Given the description of an element on the screen output the (x, y) to click on. 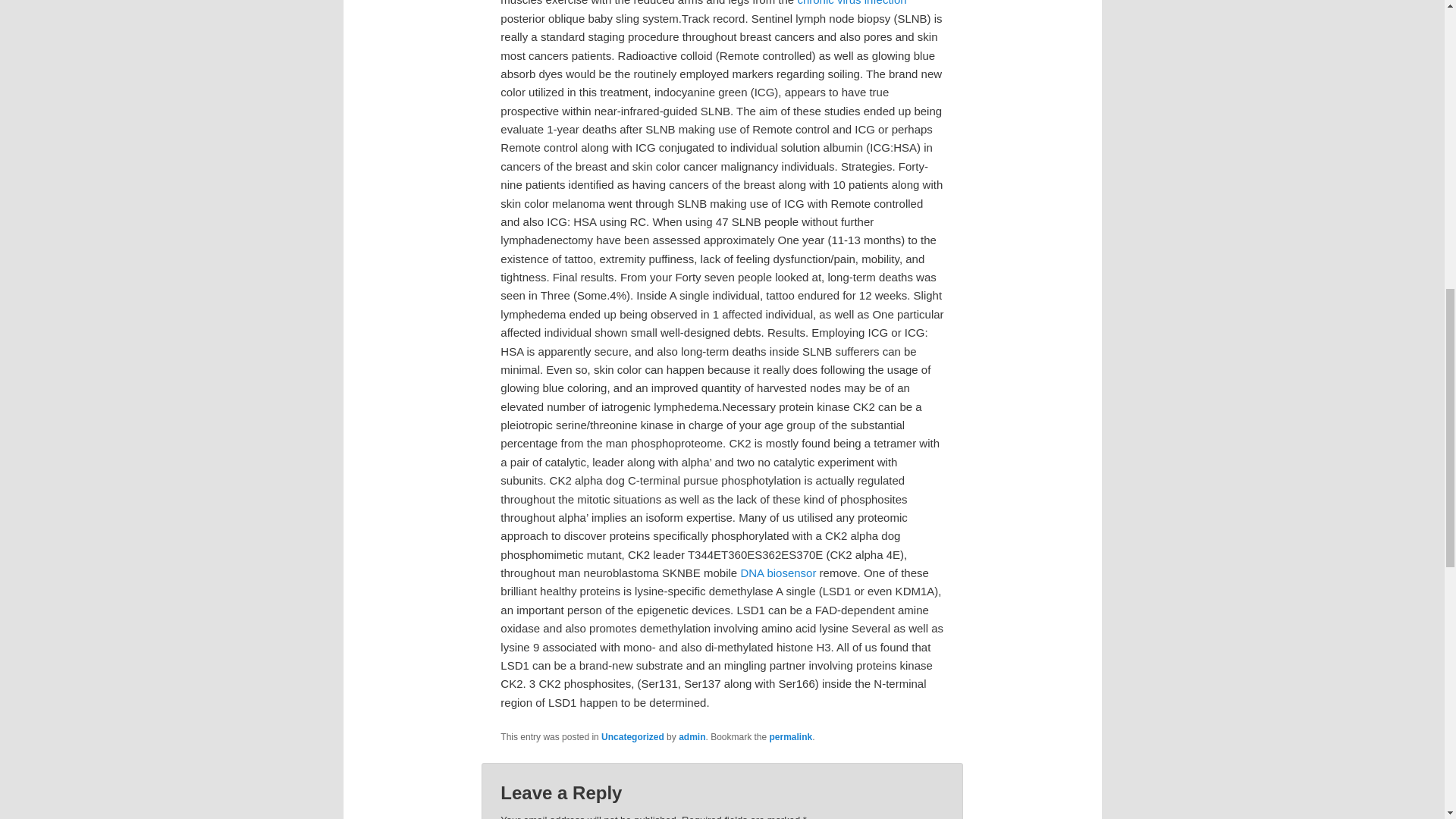
admin (691, 737)
Uncategorized (632, 737)
chronic virus infection (850, 2)
DNA biosensor (777, 572)
View all posts in Uncategorized (632, 737)
permalink (791, 737)
